Given the description of an element on the screen output the (x, y) to click on. 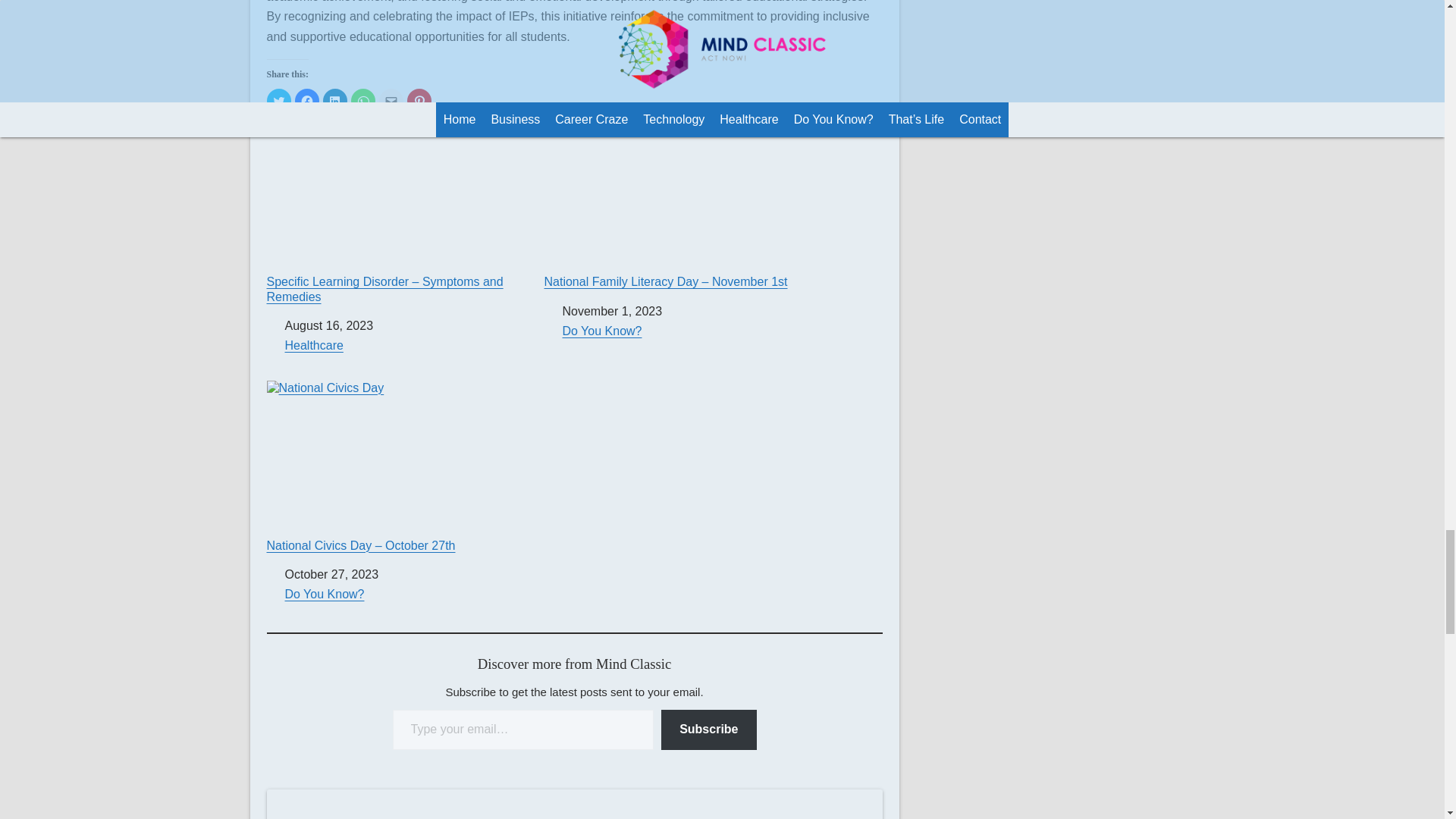
Click to share on LinkedIn (335, 100)
Click to share on Facebook (306, 100)
Please fill in this field. (523, 730)
Click to share on WhatsApp (362, 100)
Click to share on Email (390, 100)
Click to share on Twitter (278, 100)
Click to share on Pinterest (418, 100)
